Given the description of an element on the screen output the (x, y) to click on. 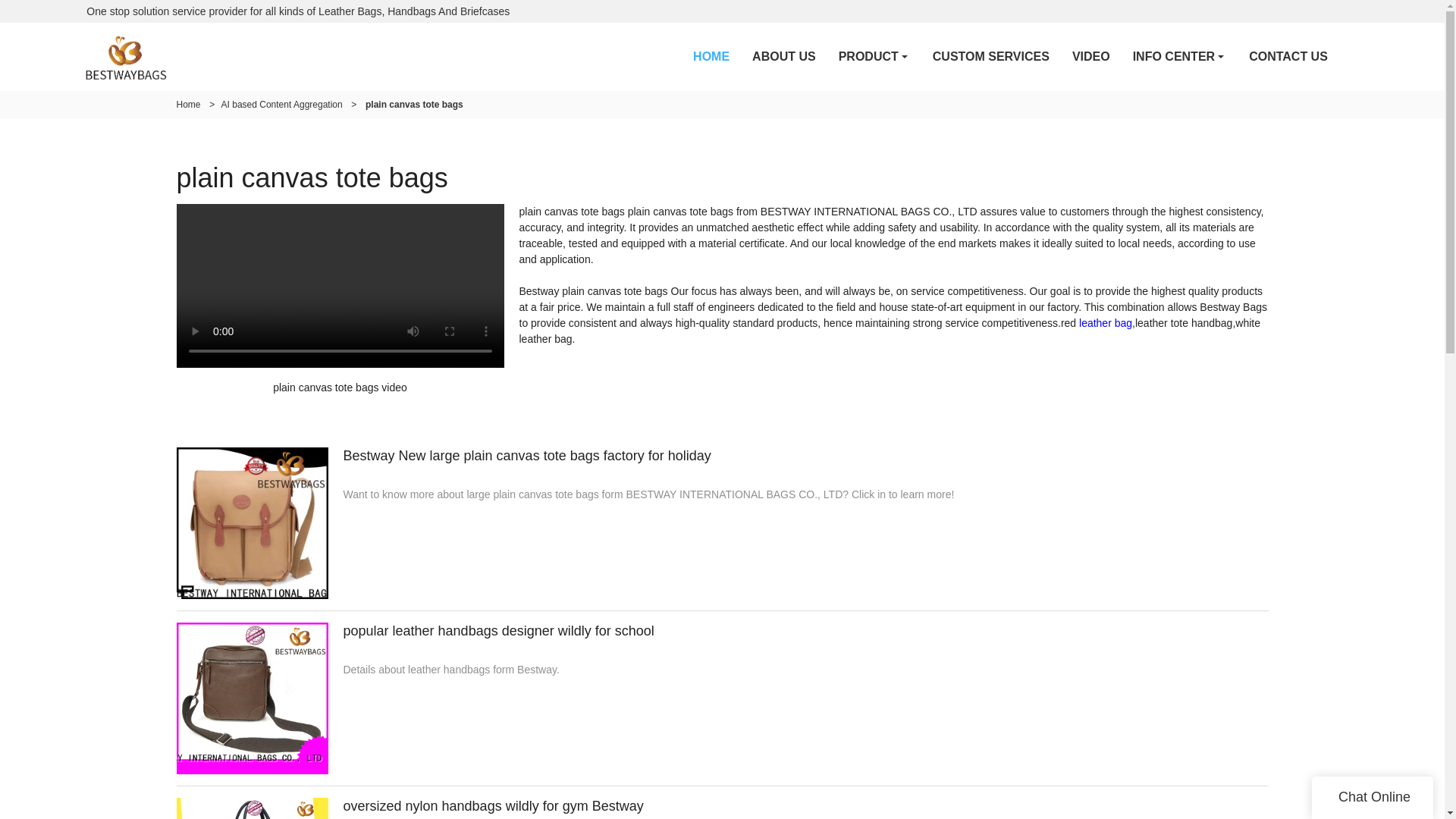
ABOUT US (784, 56)
PRODUCT (874, 56)
Home (188, 104)
AI based Content Aggregation (281, 104)
leather bag (1105, 322)
CONTACT US (1288, 56)
INFO CENTER (1179, 56)
CUSTOM SERVICES (991, 56)
